Given the description of an element on the screen output the (x, y) to click on. 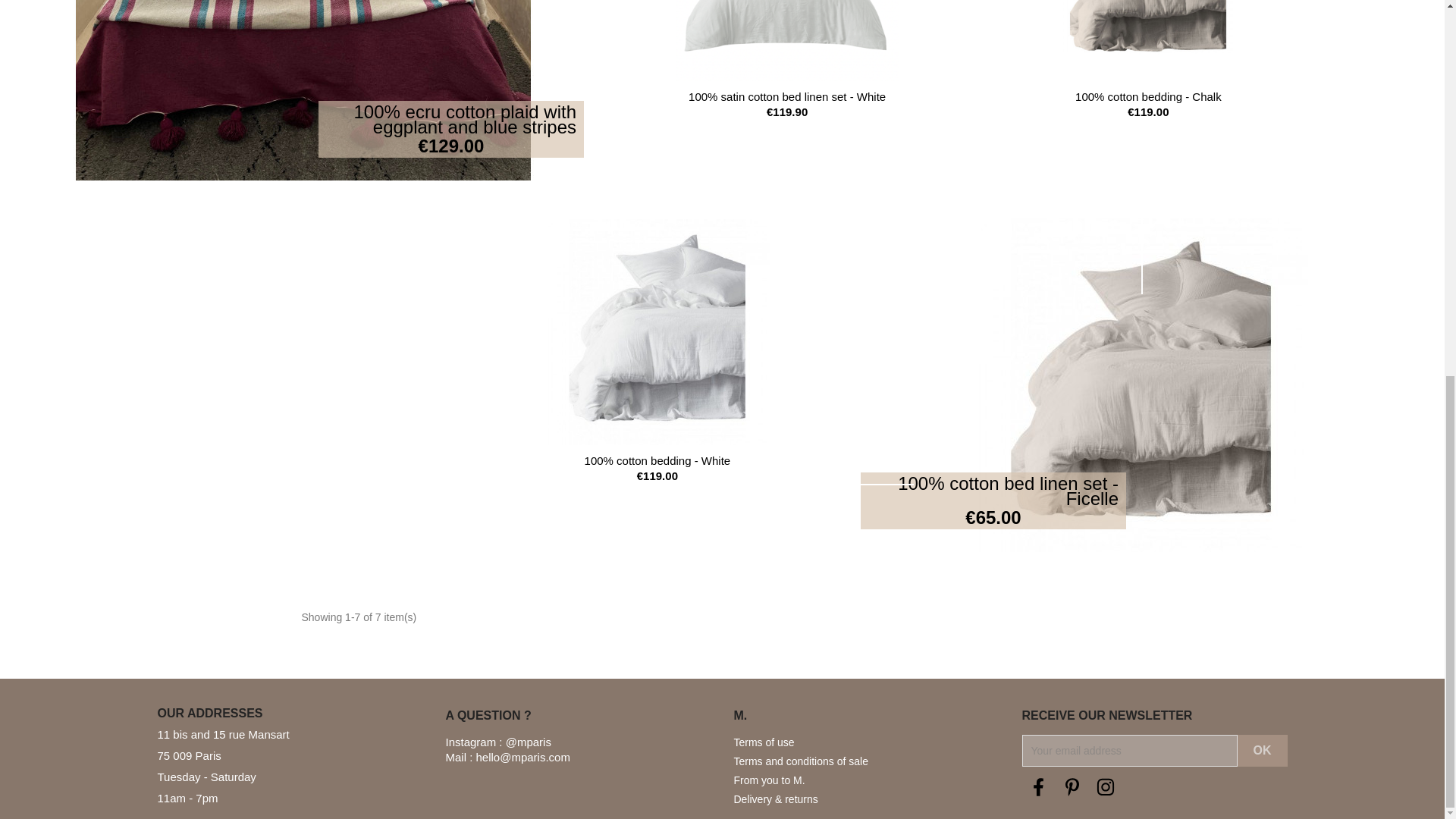
OK (1262, 750)
Our terms of use (800, 761)
Terms of use (763, 742)
Our terms of delivery (775, 799)
